Given the description of an element on the screen output the (x, y) to click on. 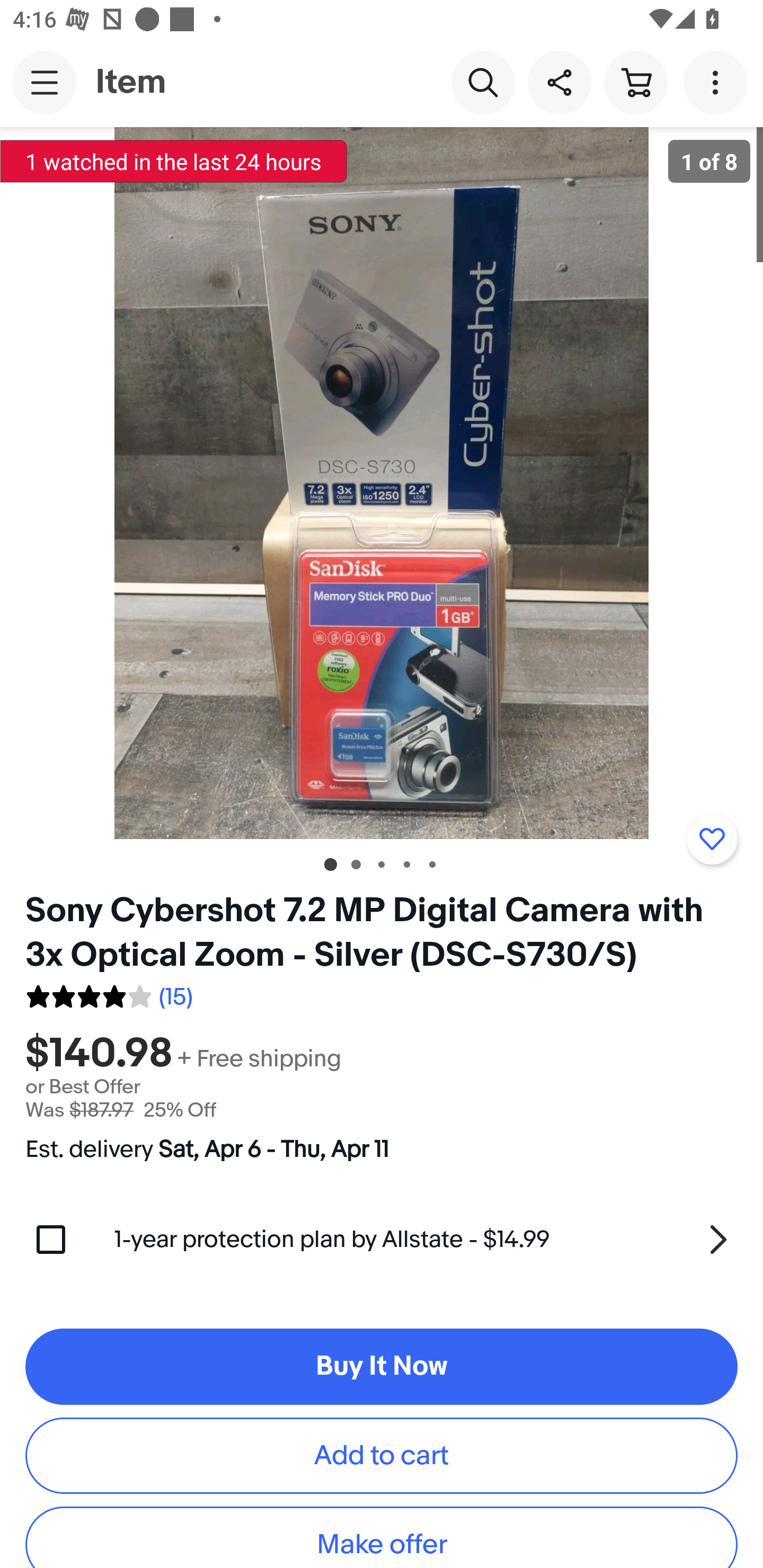
Main navigation, open (44, 82)
Search (482, 81)
Share this item (559, 81)
Cart button shopping cart (635, 81)
More options (718, 81)
Item image 1 of 8 (381, 482)
1 watched in the last 24 hours (173, 161)
Add to watchlist (711, 838)
1-year protection plan by Allstate - $14.99 (425, 1239)
Buy It Now (381, 1366)
Add to cart (381, 1455)
Make offer (381, 1537)
